Given the description of an element on the screen output the (x, y) to click on. 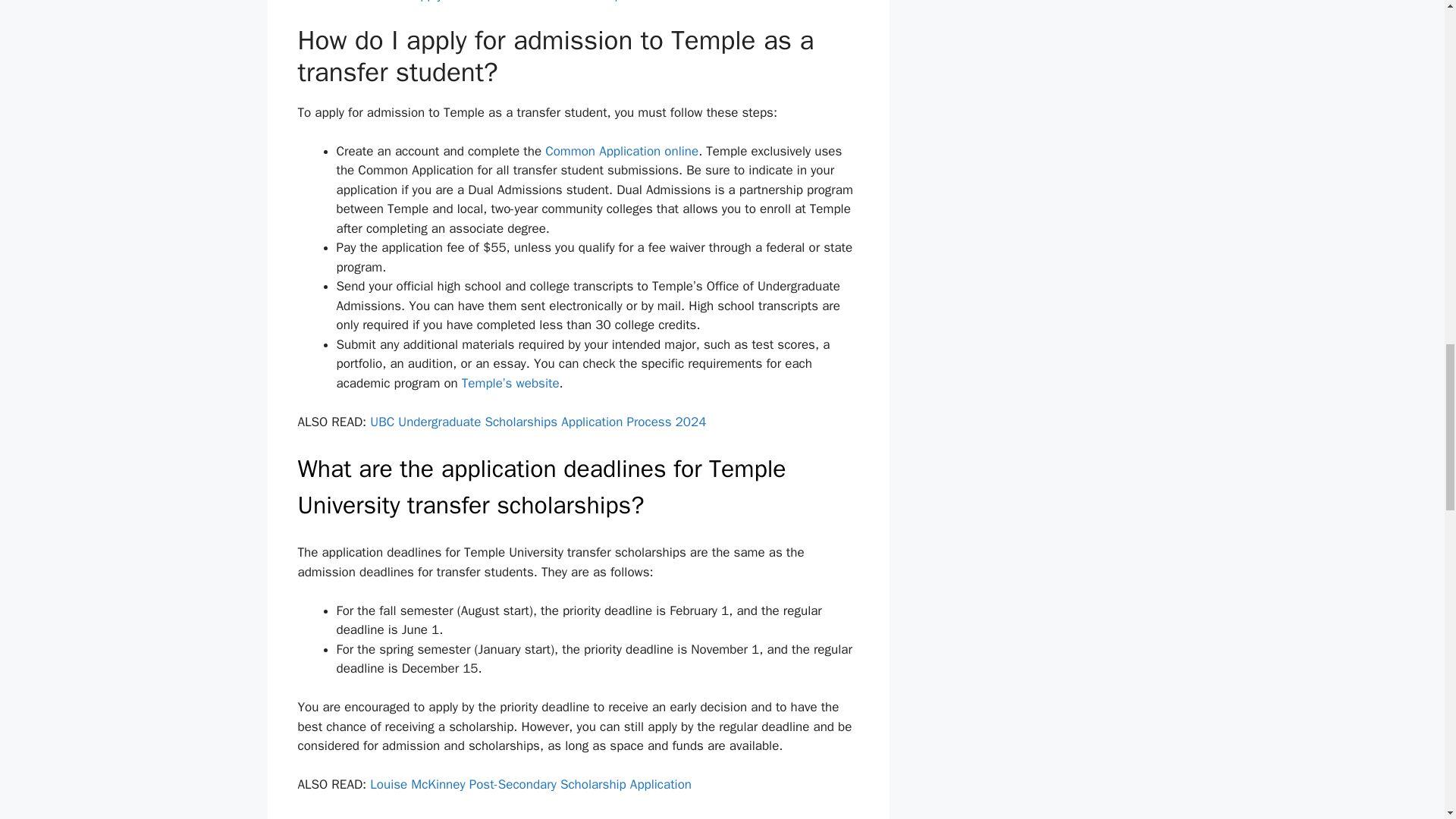
Common Application online (619, 150)
Louise McKinney Post-Secondary Scholarship Application (530, 784)
How to Apply for the Marie Curie Scholarship 2024 (512, 1)
UBC Undergraduate Scholarships Application Process 2024 (537, 421)
